Given the description of an element on the screen output the (x, y) to click on. 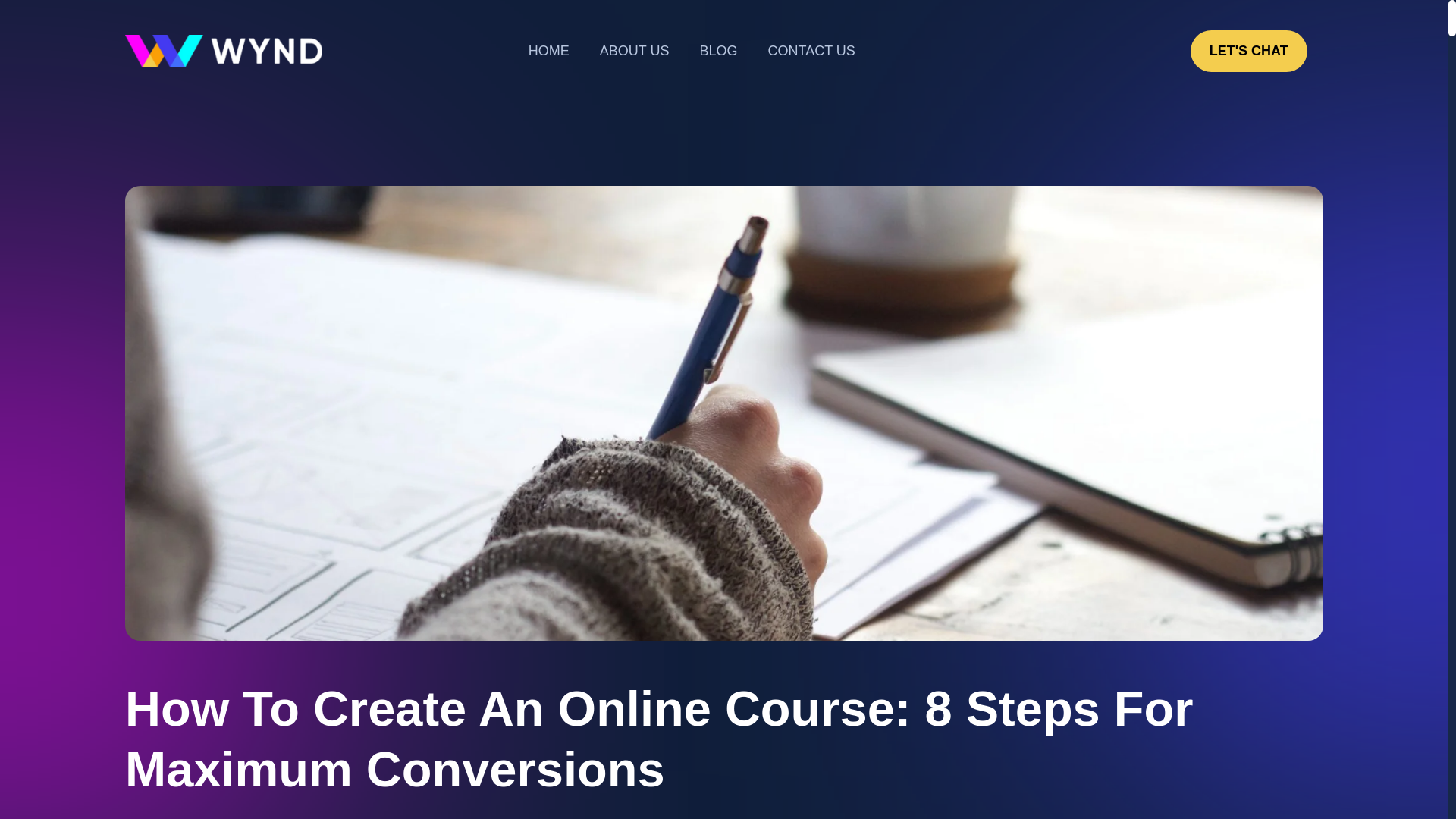
CONTACT US (810, 51)
BLOG (718, 51)
ABOUT US (634, 51)
HOME (549, 51)
LET'S CHAT (1249, 51)
